Given the description of an element on the screen output the (x, y) to click on. 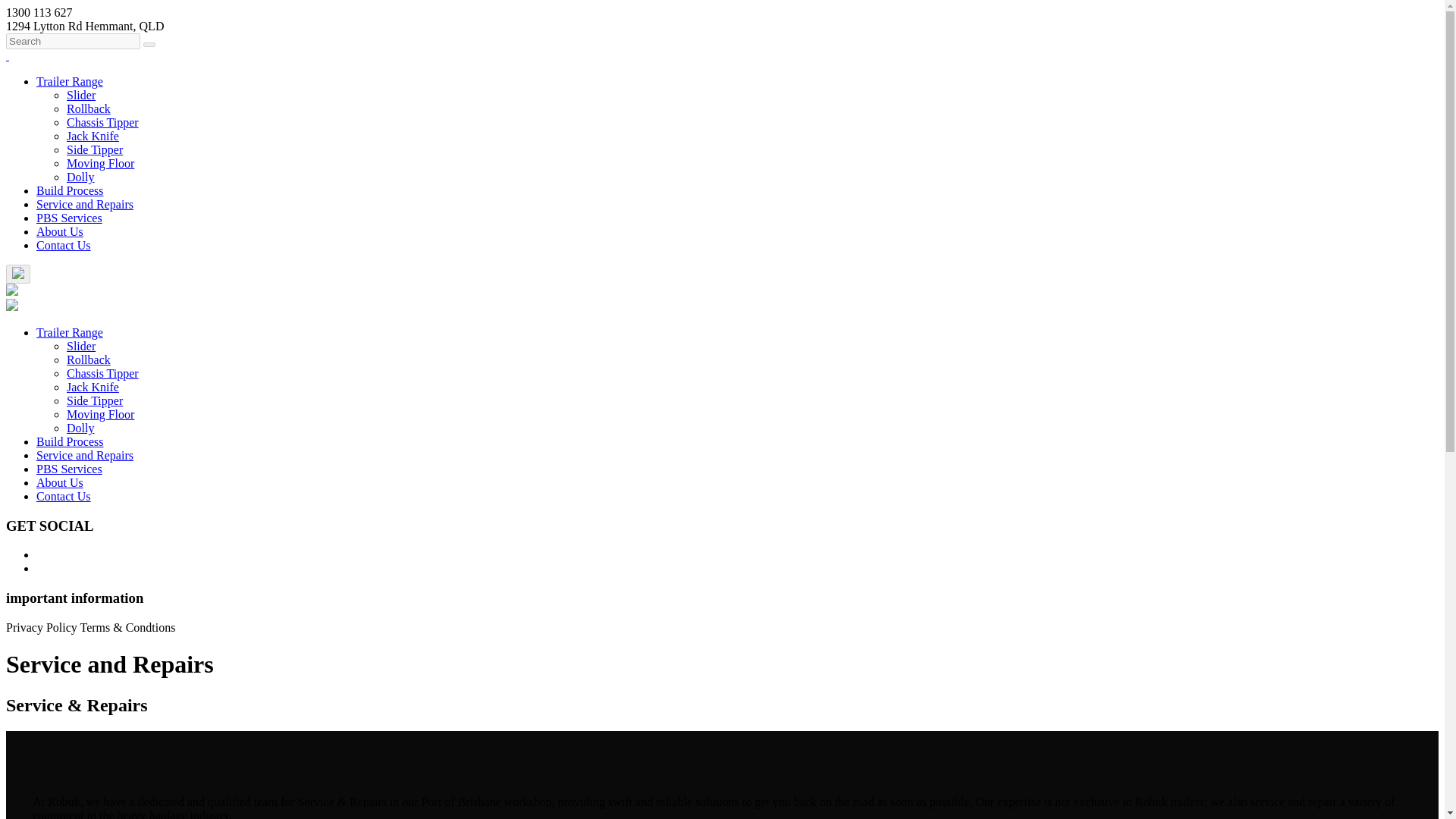
About Us (59, 231)
Side Tipper (94, 400)
Jack Knife (92, 135)
Slider (81, 345)
Jack Knife (92, 386)
Moving Floor (99, 413)
Moving Floor (99, 163)
Build Process (69, 440)
Rollback (88, 359)
PBS Services (68, 217)
